Given the description of an element on the screen output the (x, y) to click on. 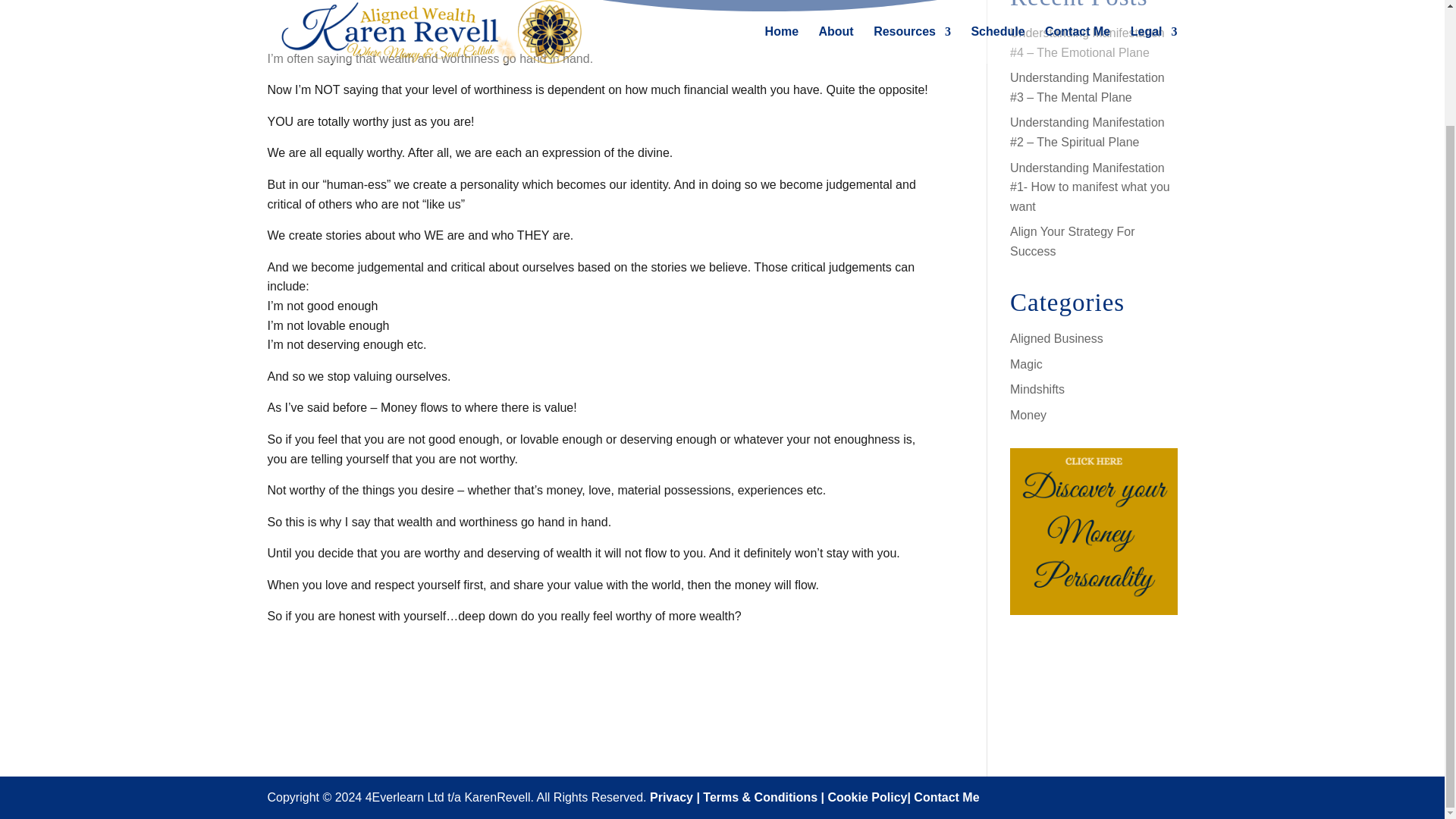
Align Your Strategy For Success (1072, 241)
Money (1028, 414)
Contact Me (946, 797)
Mindshifts (1037, 389)
Aligned Business (1056, 338)
Magic (1026, 364)
